Given the description of an element on the screen output the (x, y) to click on. 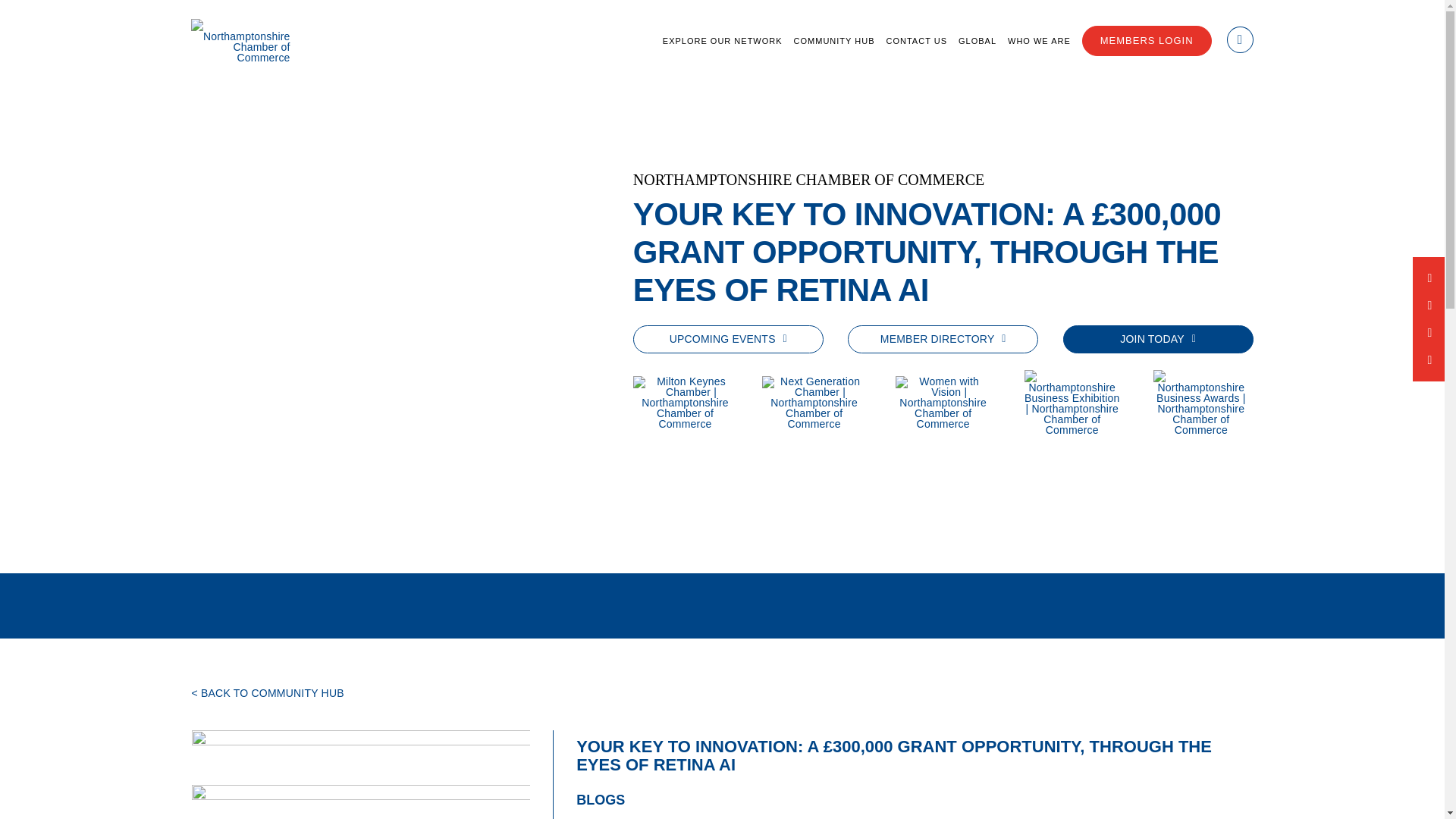
WHO WE ARE (1038, 40)
EXPLORE OUR NETWORK (722, 40)
GLOBAL (976, 40)
COMMUNITY HUB (834, 40)
MEMBERS LOGIN (1146, 40)
CONTACT US (916, 40)
